Given the description of an element on the screen output the (x, y) to click on. 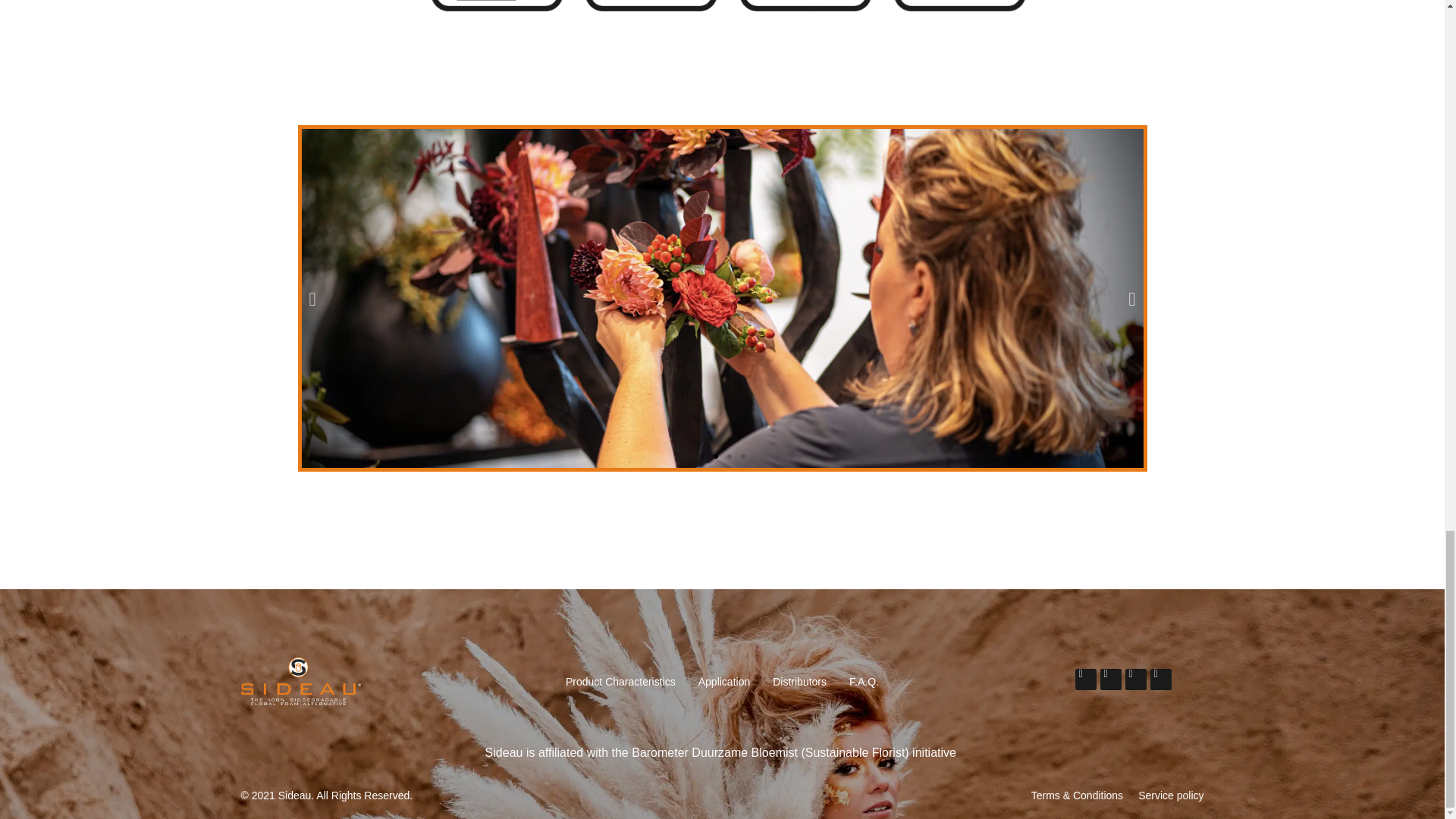
Application (724, 682)
Distributors (800, 682)
Service policy (1171, 795)
F.A.Q. (863, 682)
Product Characteristics (620, 682)
